Given the description of an element on the screen output the (x, y) to click on. 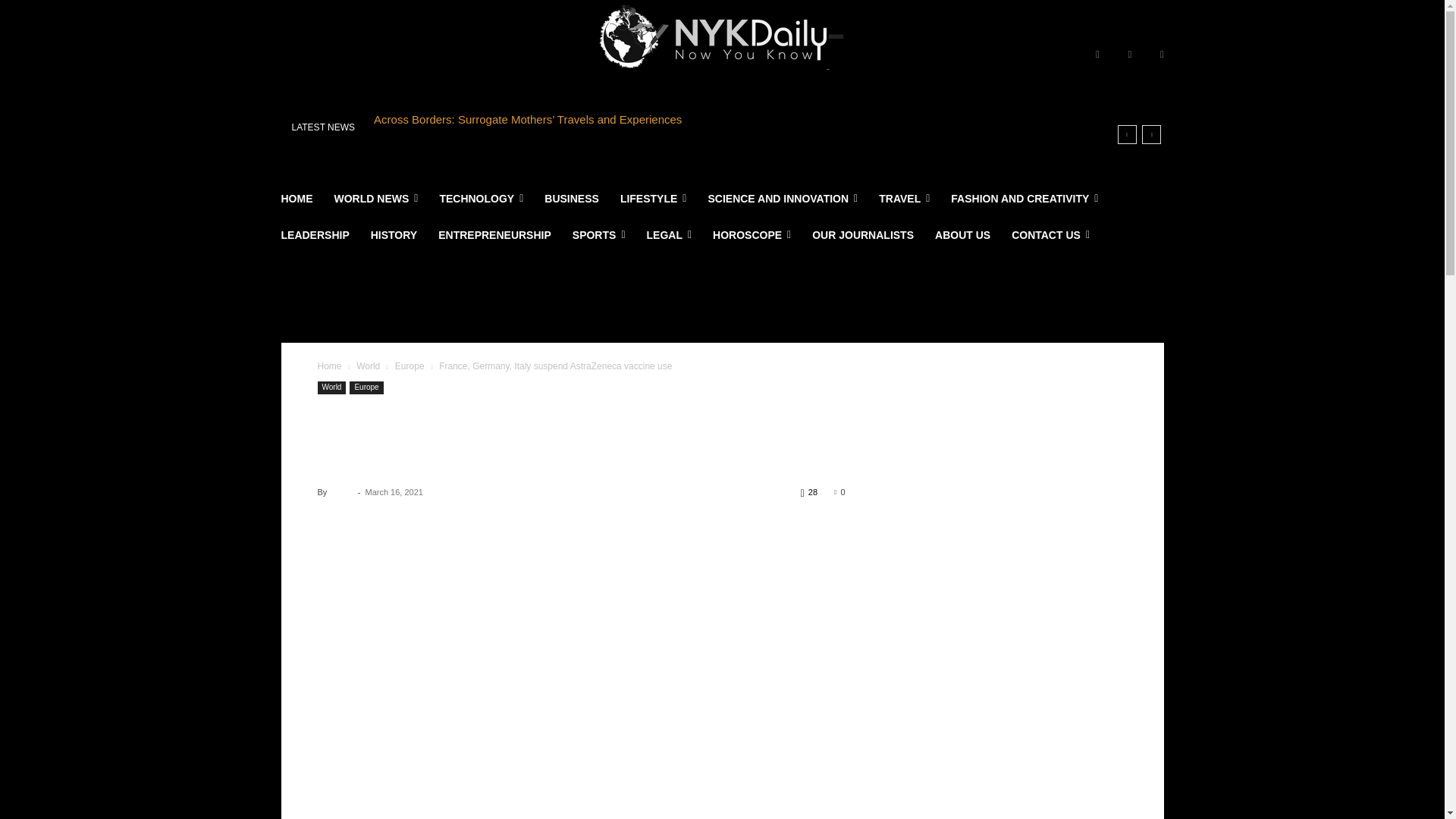
Instagram (1130, 54)
Facebook (1096, 54)
Twitter (1162, 54)
